Given the description of an element on the screen output the (x, y) to click on. 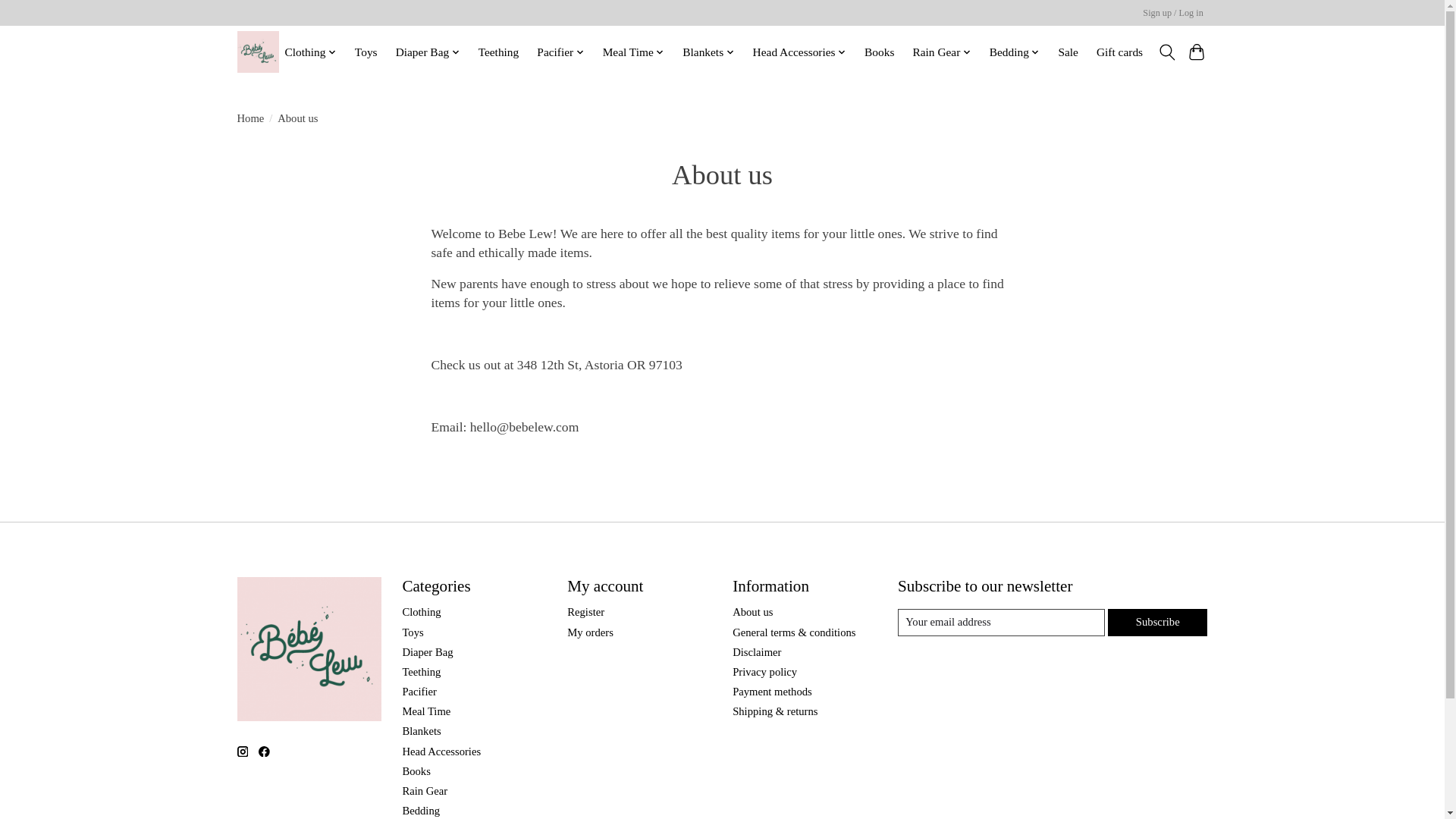
Teething (497, 52)
Pacifier (560, 52)
My orders (589, 632)
Head Accessories (798, 52)
Payment methods (772, 691)
My account (1173, 13)
Blankets (708, 52)
Privacy policy (764, 671)
Toys (365, 52)
Books (879, 52)
